Given the description of an element on the screen output the (x, y) to click on. 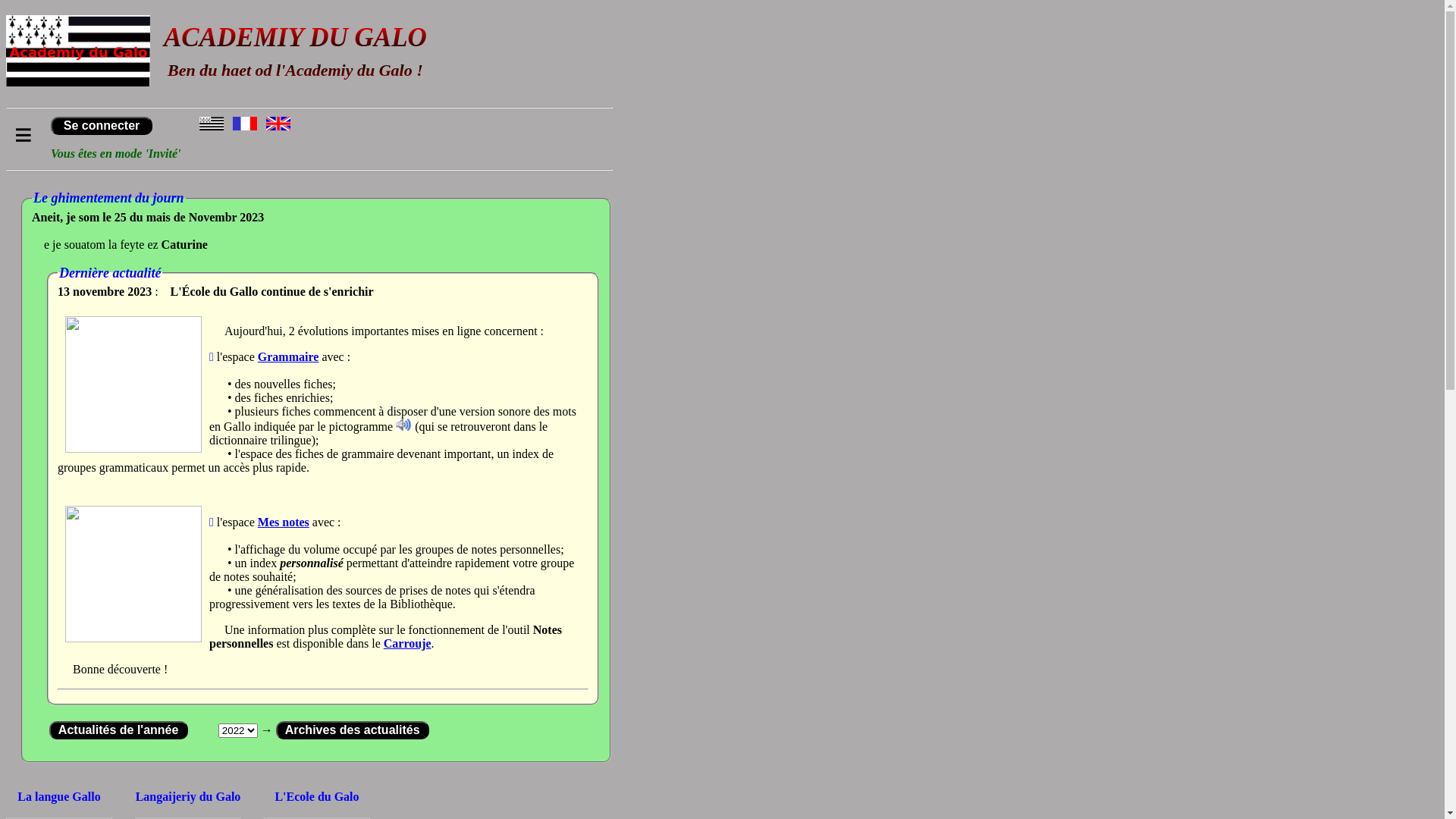
Grammaire Element type: text (288, 356)
Carrouje Element type: text (407, 643)
Mes notes Element type: text (283, 521)
